Given the description of an element on the screen output the (x, y) to click on. 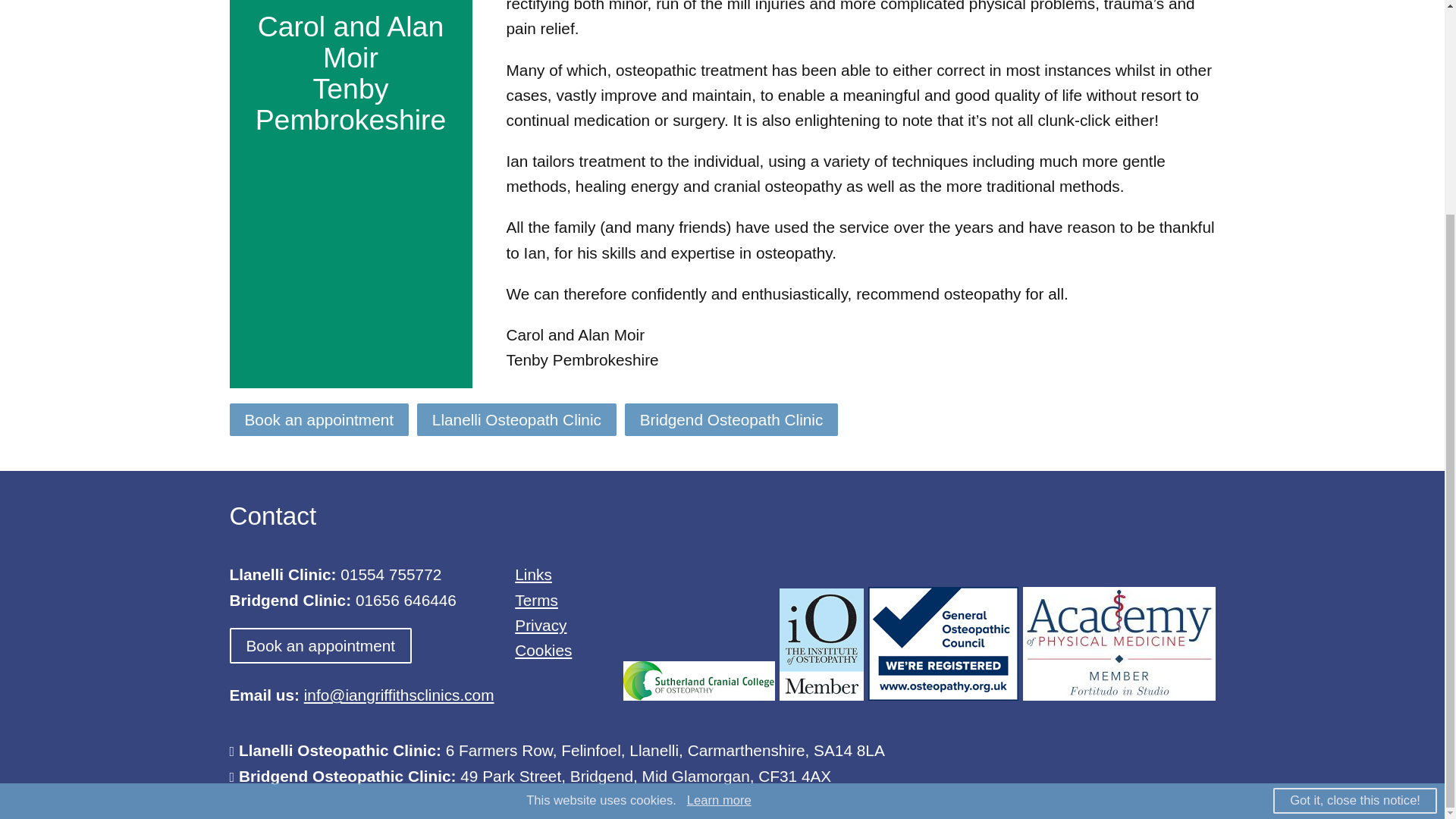
Terms (536, 600)
Got it, close this notice! (1354, 519)
Bridgend Osteopath Clinic (731, 419)
Llanelli Osteopath Clinic (515, 419)
Links (533, 574)
Cookies (543, 650)
Learn more (719, 518)
Book an appointment (318, 419)
Book an appointment (320, 645)
Privacy (540, 624)
